Given the description of an element on the screen output the (x, y) to click on. 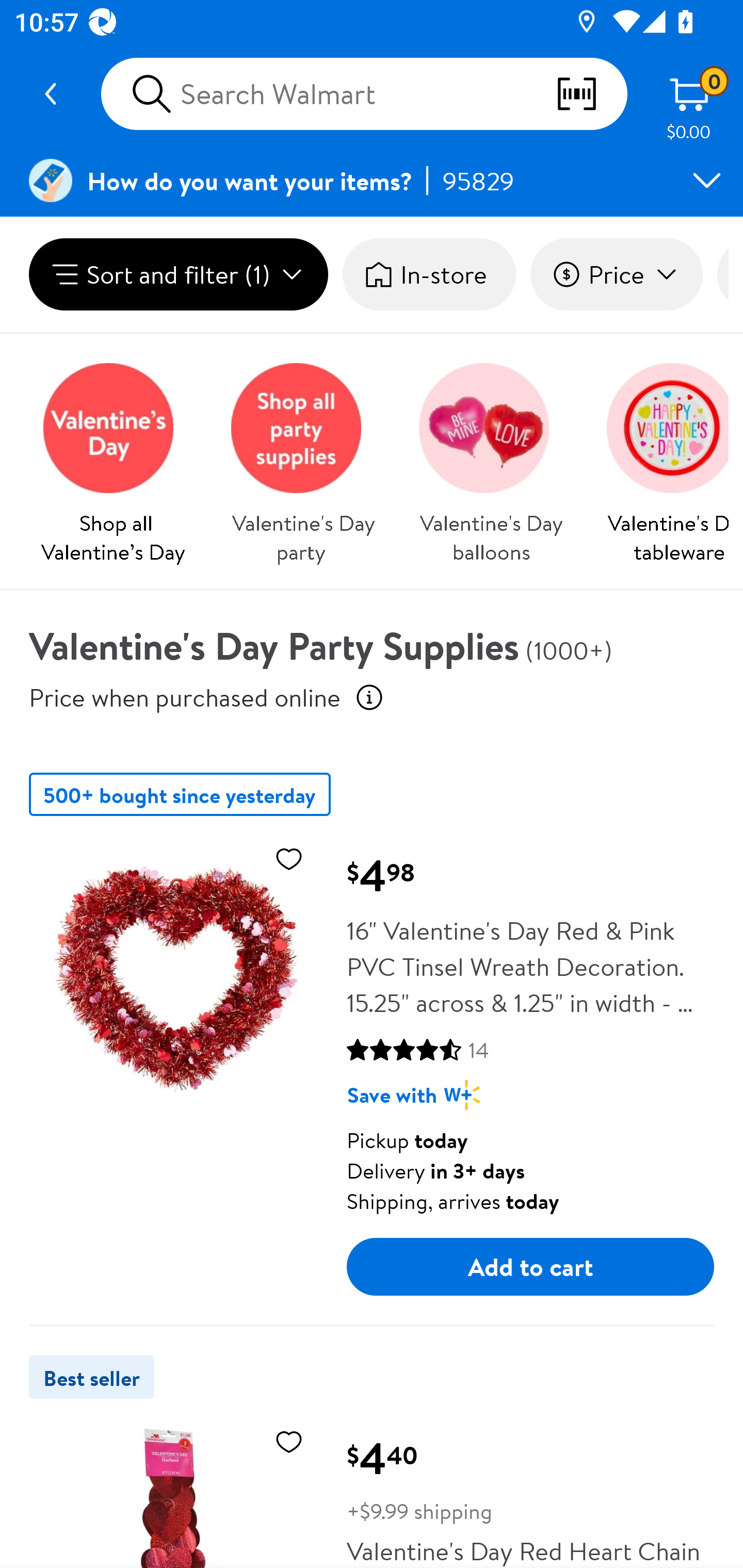
Navigate up (50, 93)
Search Walmart scan barcodes qr codes and more (364, 94)
scan barcodes qr codes and more (591, 94)
Price when purchased online (184, 696)
Price when purchased online (369, 697)
Add to cart (530, 1266)
